Given the description of an element on the screen output the (x, y) to click on. 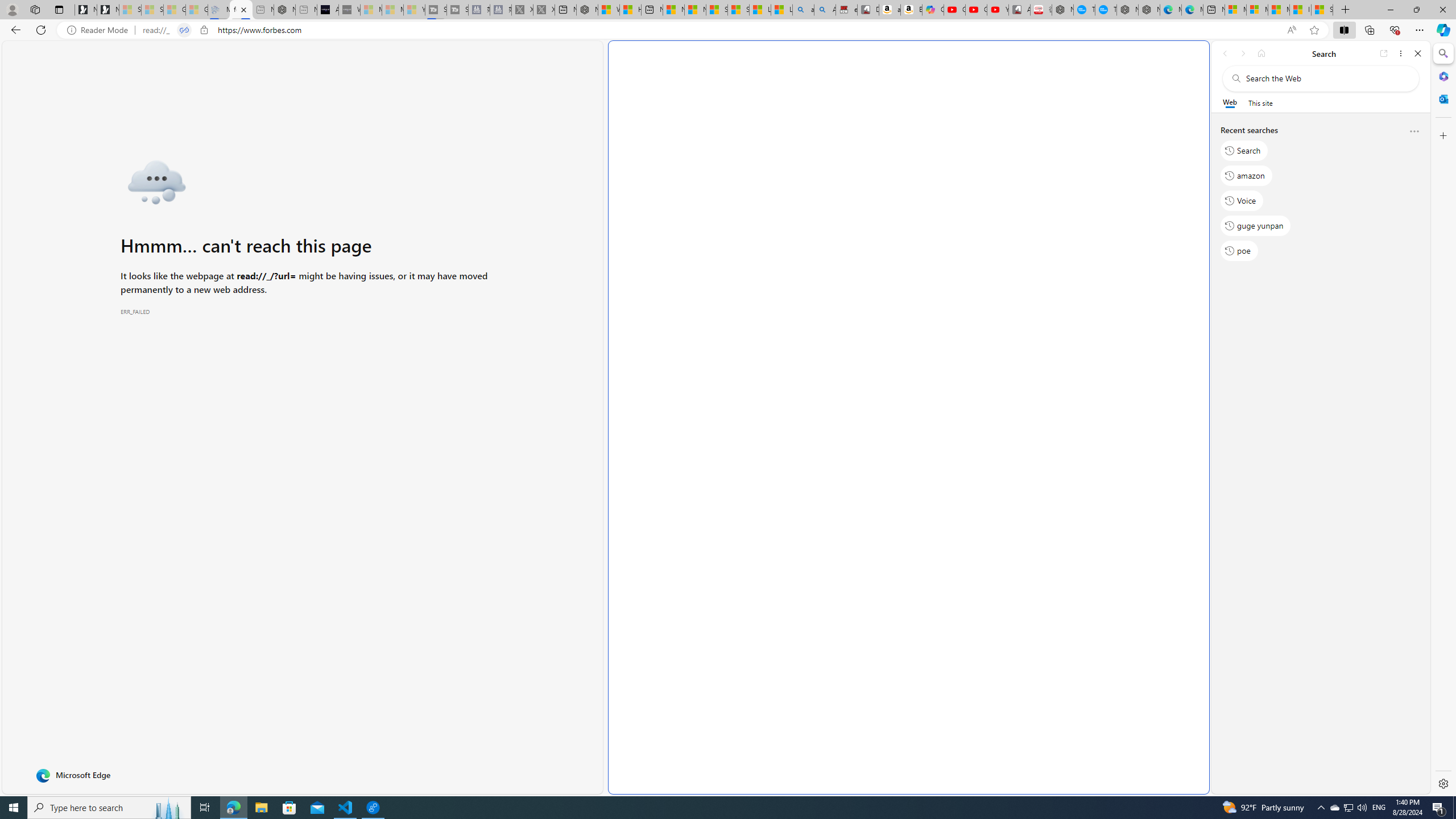
What's the best AI voice generator? - voice.ai - Sleeping (349, 9)
Settings (1442, 783)
The most popular Google 'how to' searches (1105, 9)
poe (1238, 250)
Newsletter Sign Up (107, 9)
